Given the description of an element on the screen output the (x, y) to click on. 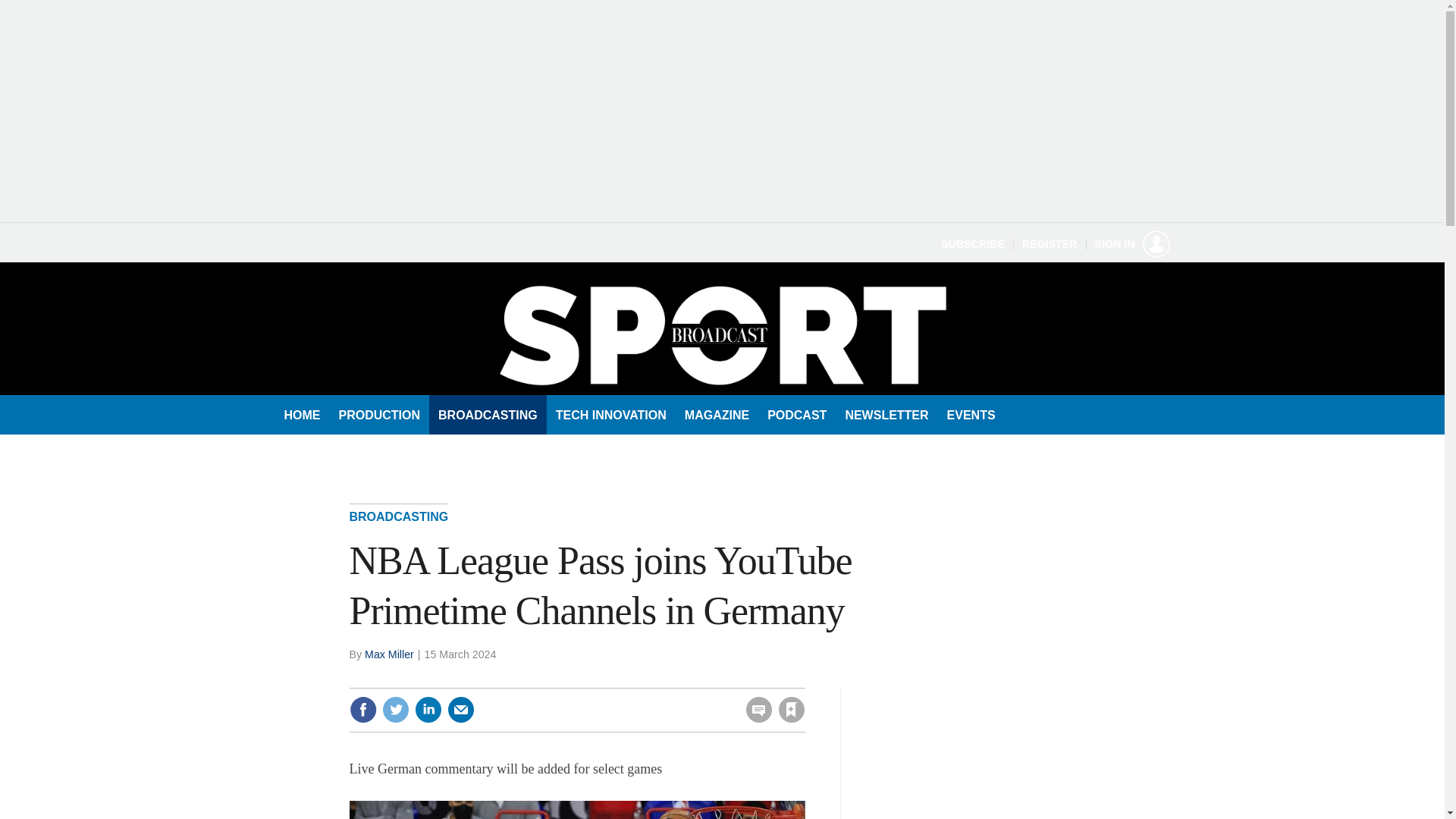
SUBSCRIBE (972, 244)
REGISTER (1049, 244)
SIGN IN (1132, 244)
PODCAST (796, 414)
Max Miller (389, 653)
Share this on Twitter (395, 709)
No comments (754, 718)
HOME (302, 414)
Save article (791, 709)
Share this on Linked in (427, 709)
Email this article (460, 709)
No comments (754, 718)
BROADCASTING (488, 414)
BROADCASTING (398, 519)
Share this on Facebook (362, 709)
